Given the description of an element on the screen output the (x, y) to click on. 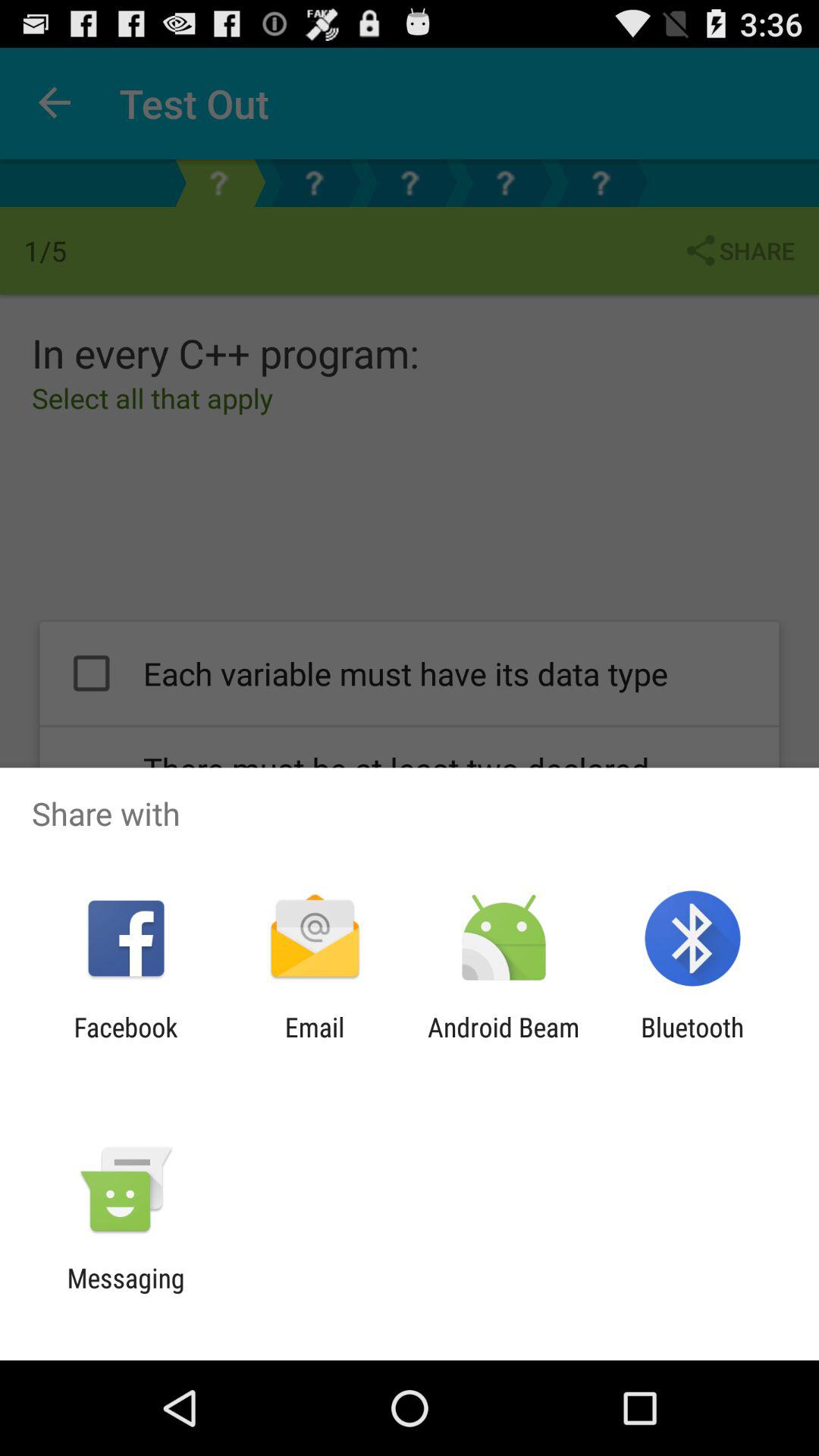
open icon to the right of the email app (503, 1042)
